Given the description of an element on the screen output the (x, y) to click on. 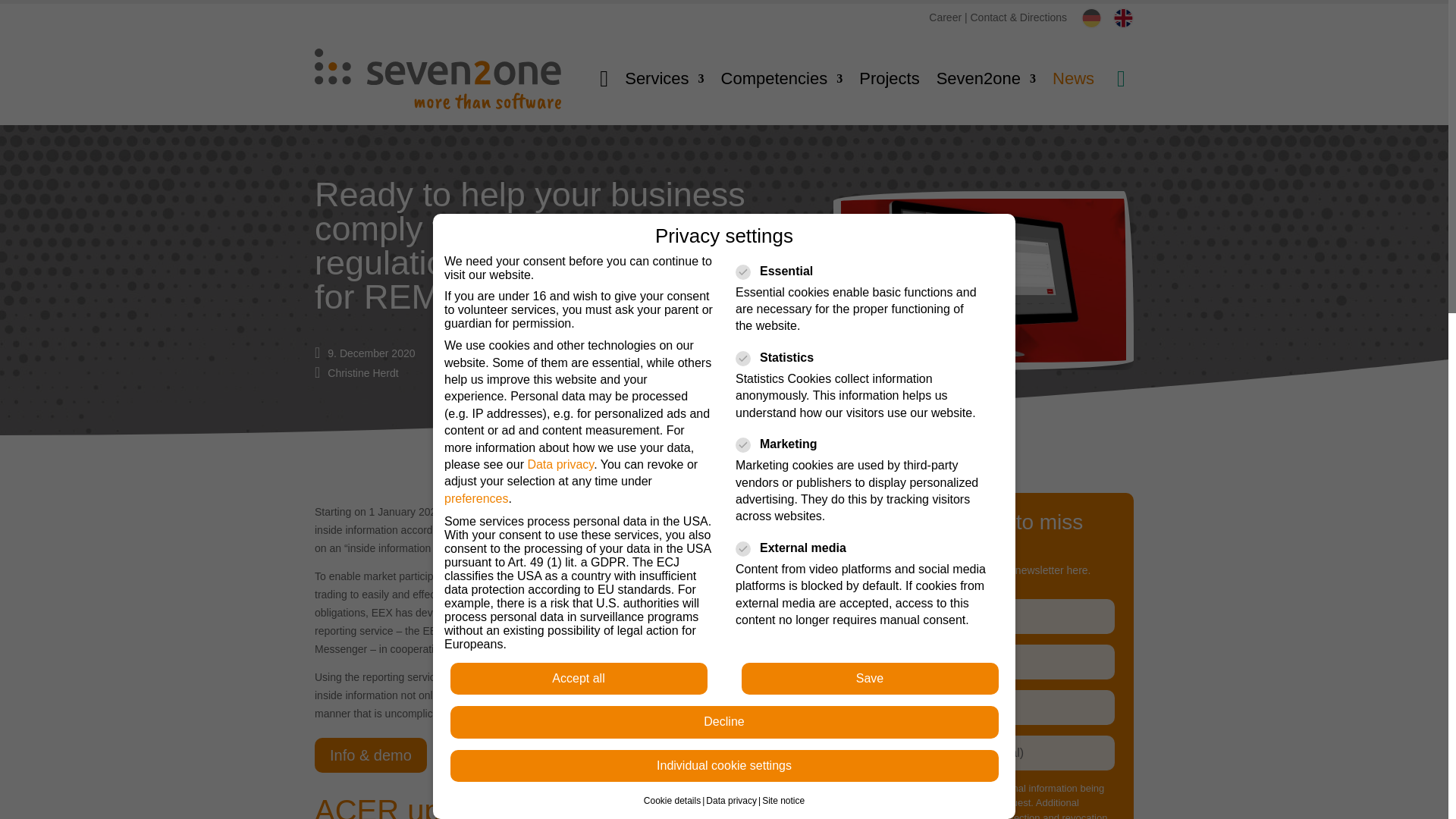
eex-inside-information-messenger-login (719, 581)
Screenshot of the EEX Inside Information Messenger (983, 280)
to the career section (944, 17)
Seven2one (985, 78)
Competencies (781, 78)
Projects (888, 78)
Services (663, 78)
Career (944, 17)
Screenshot of the EEX Inside Information Messenger (983, 366)
to the contact page (1019, 17)
